Given the description of an element on the screen output the (x, y) to click on. 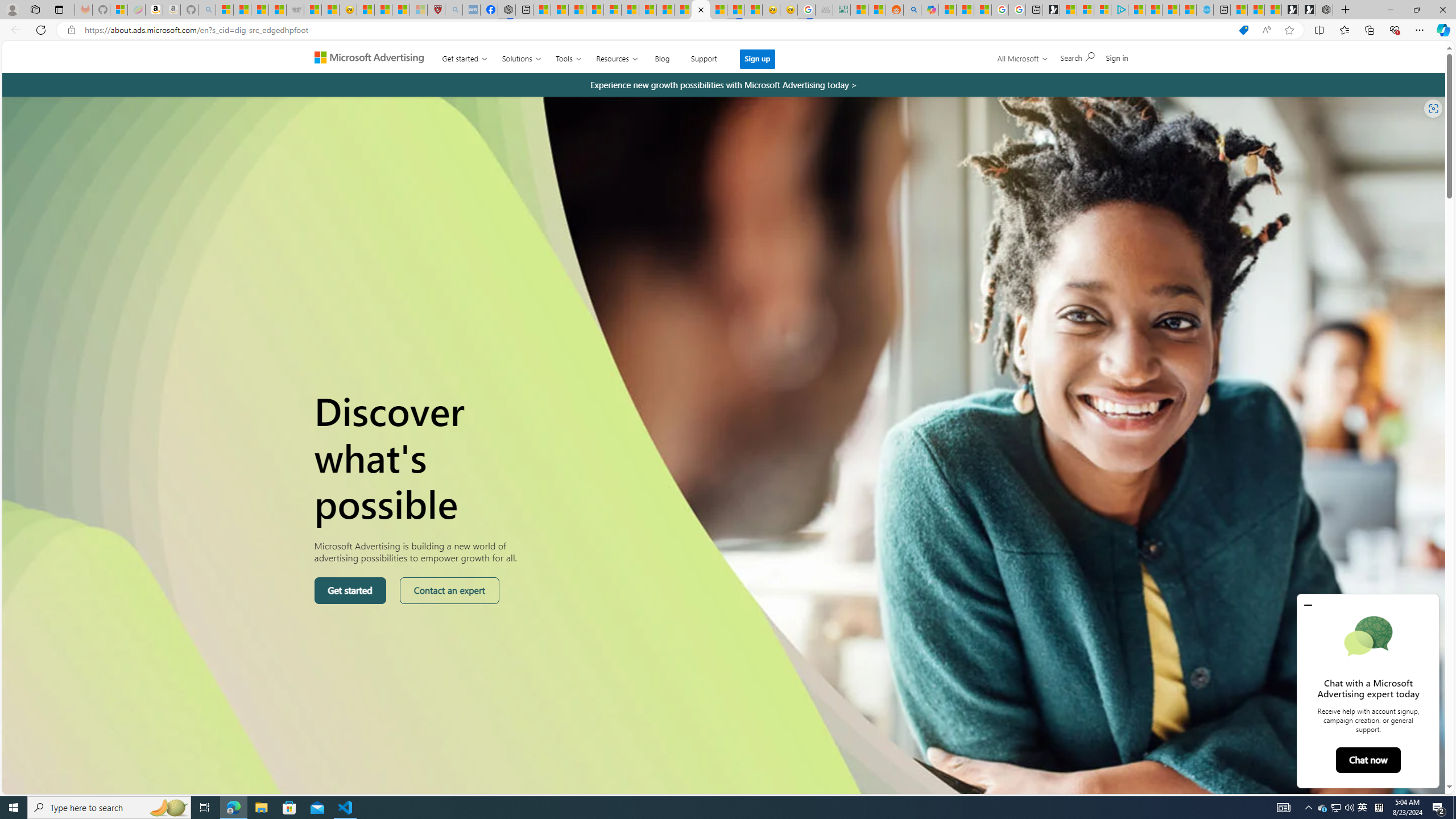
list of asthma inhalers uk - Search - Sleeping (453, 9)
MSN (735, 9)
Contact an expert (448, 590)
MSNBC - MSN (859, 9)
Sign up (756, 59)
Microsoft Advertising (373, 56)
Nordace - Nordace Siena Is Not An Ordinary Backpack (1324, 9)
Get started (349, 590)
Blog (662, 56)
